Given the description of an element on the screen output the (x, y) to click on. 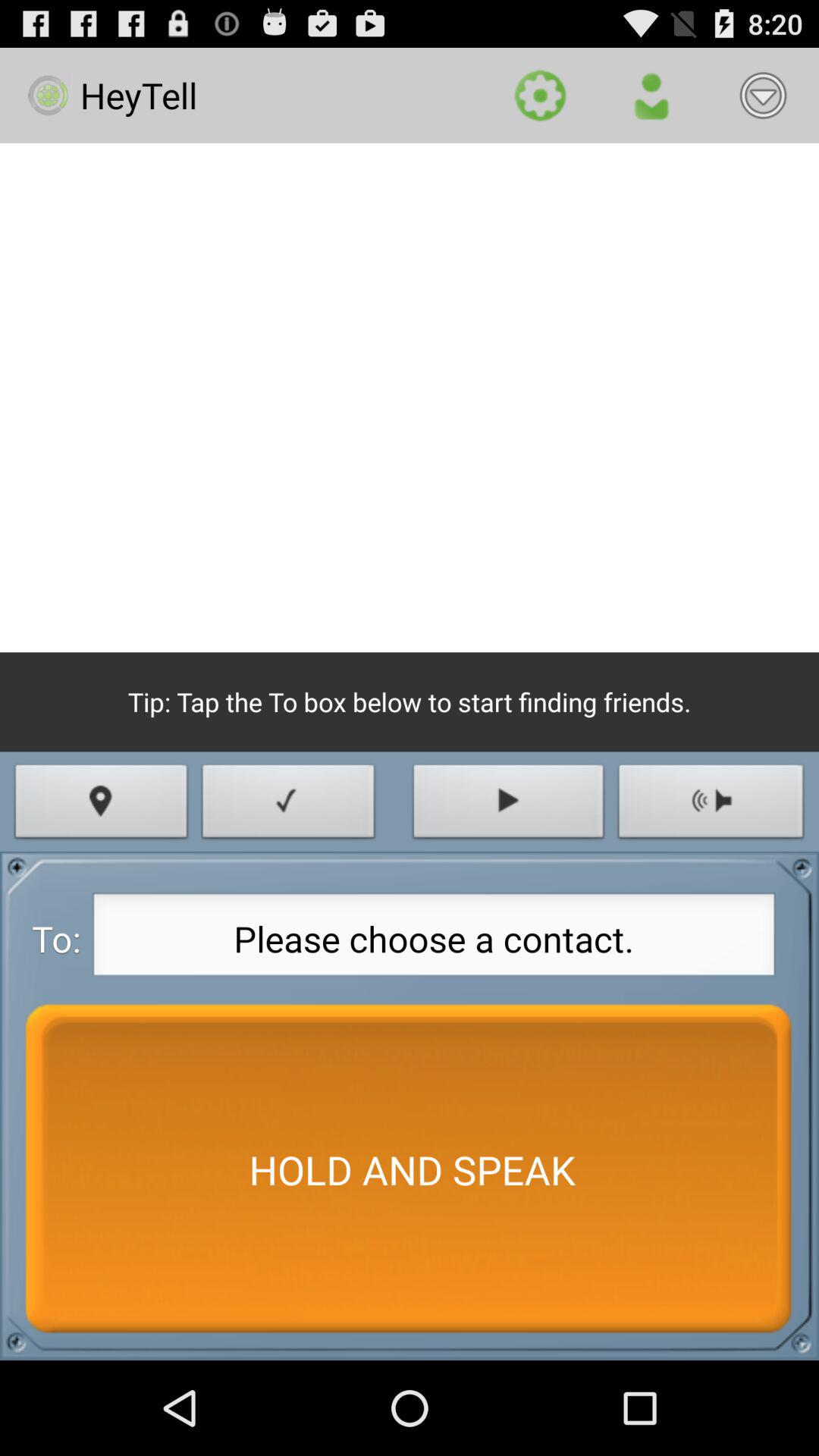
open the item next to to: app (433, 938)
